Given the description of an element on the screen output the (x, y) to click on. 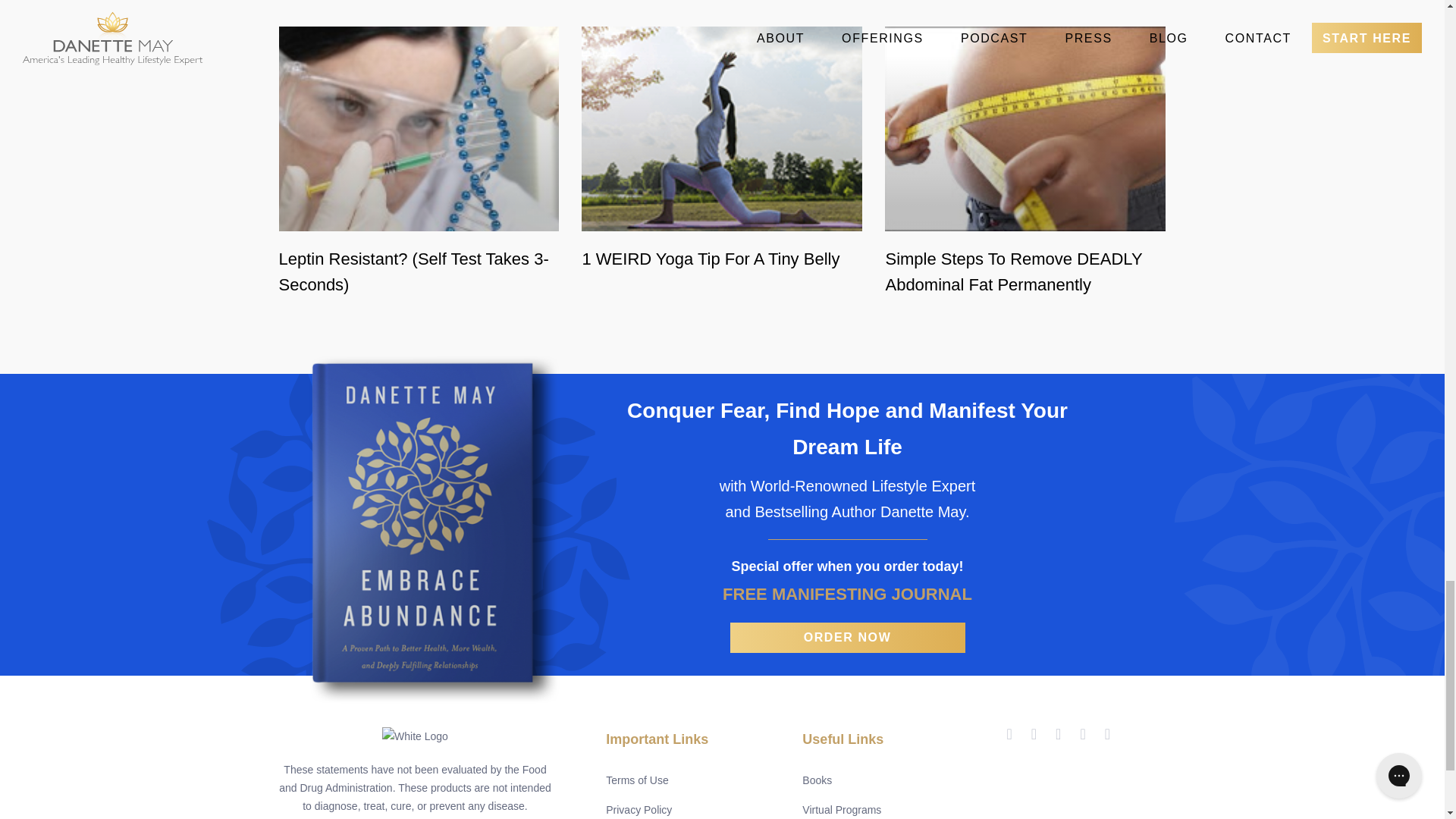
Terms of Use (636, 779)
Privacy Policy (638, 809)
1 WEIRD Yoga Tip For A Tiny Belly (720, 258)
Simple Steps To Remove DEADLY Abdominal Fat Permanently (1025, 271)
ORDER NOW (846, 636)
